Given the description of an element on the screen output the (x, y) to click on. 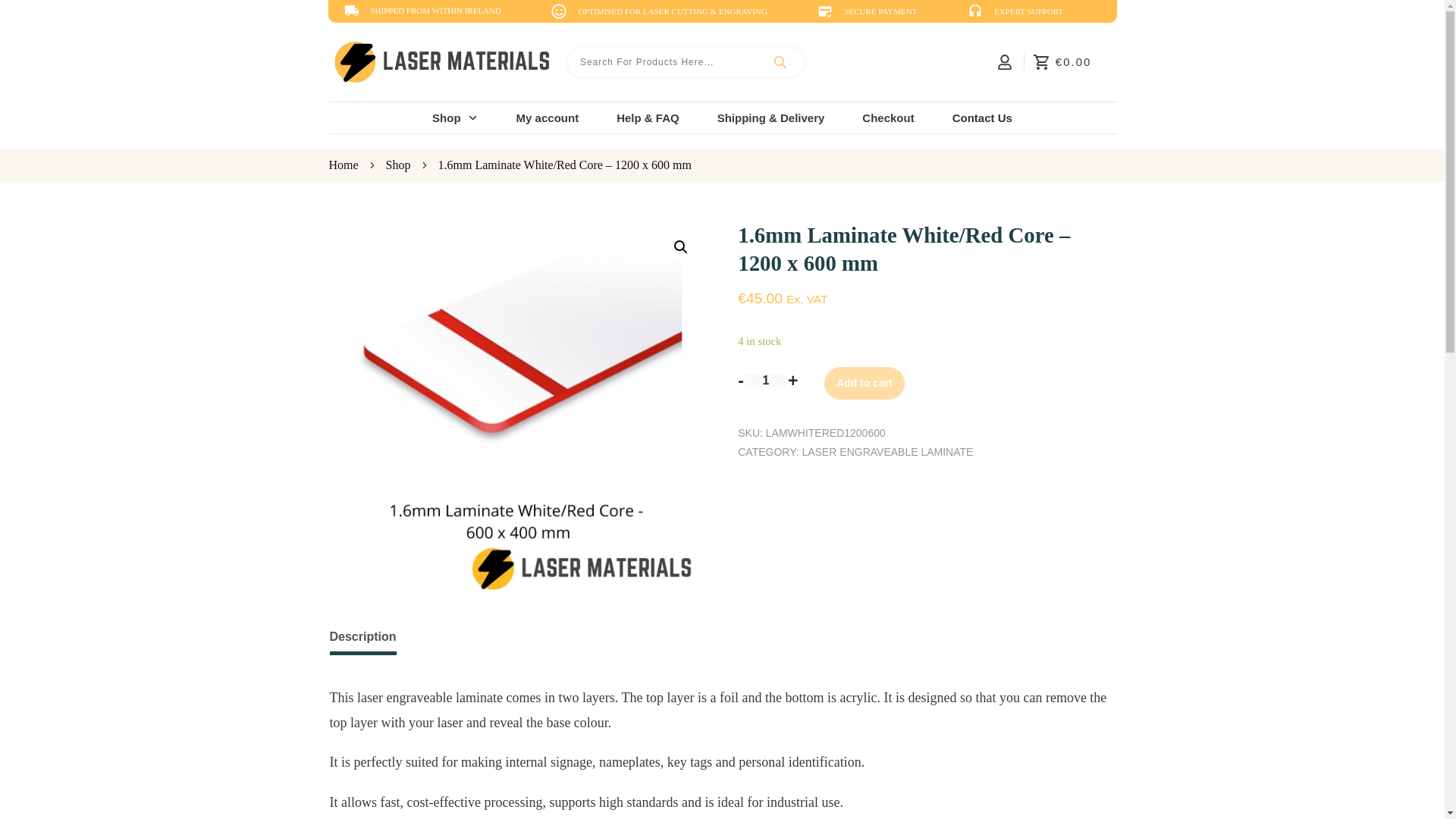
Contact Us (981, 117)
Description (362, 636)
My account (547, 117)
- (741, 380)
Checkout (887, 117)
Home (343, 165)
LASER ENGRAVEABLE LAMINATE (888, 451)
Add to cart (864, 383)
Shop (455, 117)
Shop (397, 165)
1 (765, 380)
